Given the description of an element on the screen output the (x, y) to click on. 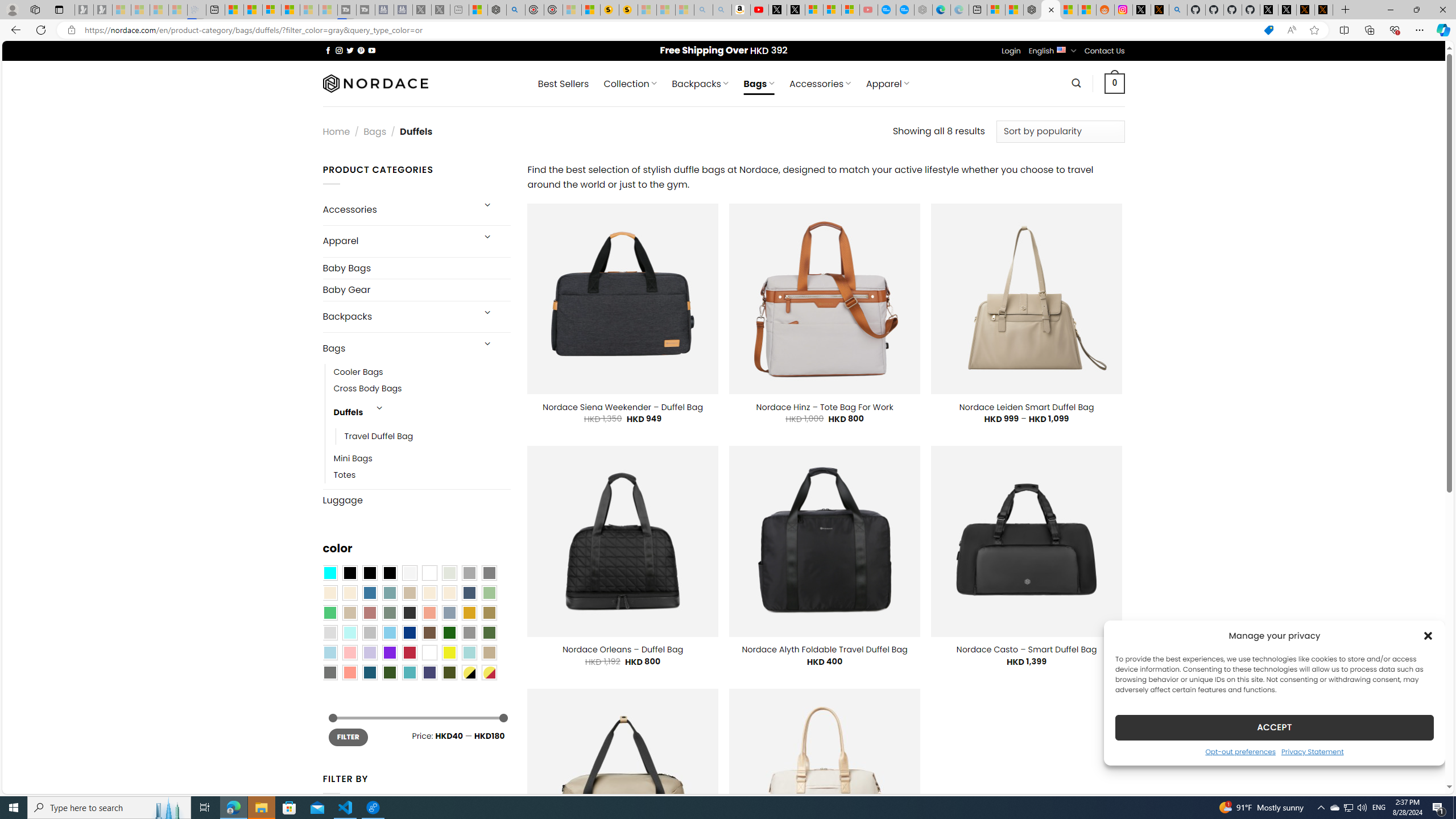
New tab - Sleeping (459, 9)
Apparel (397, 241)
Day 1: Arriving in Yemen (surreal to be here) - YouTube (759, 9)
Charcoal (408, 613)
Login (1010, 50)
White (429, 652)
Nordace - Best Sellers (1032, 9)
Baby Bags (416, 268)
github - Search (1178, 9)
Opt-out preferences (1240, 750)
Purple (389, 652)
